Given the description of an element on the screen output the (x, y) to click on. 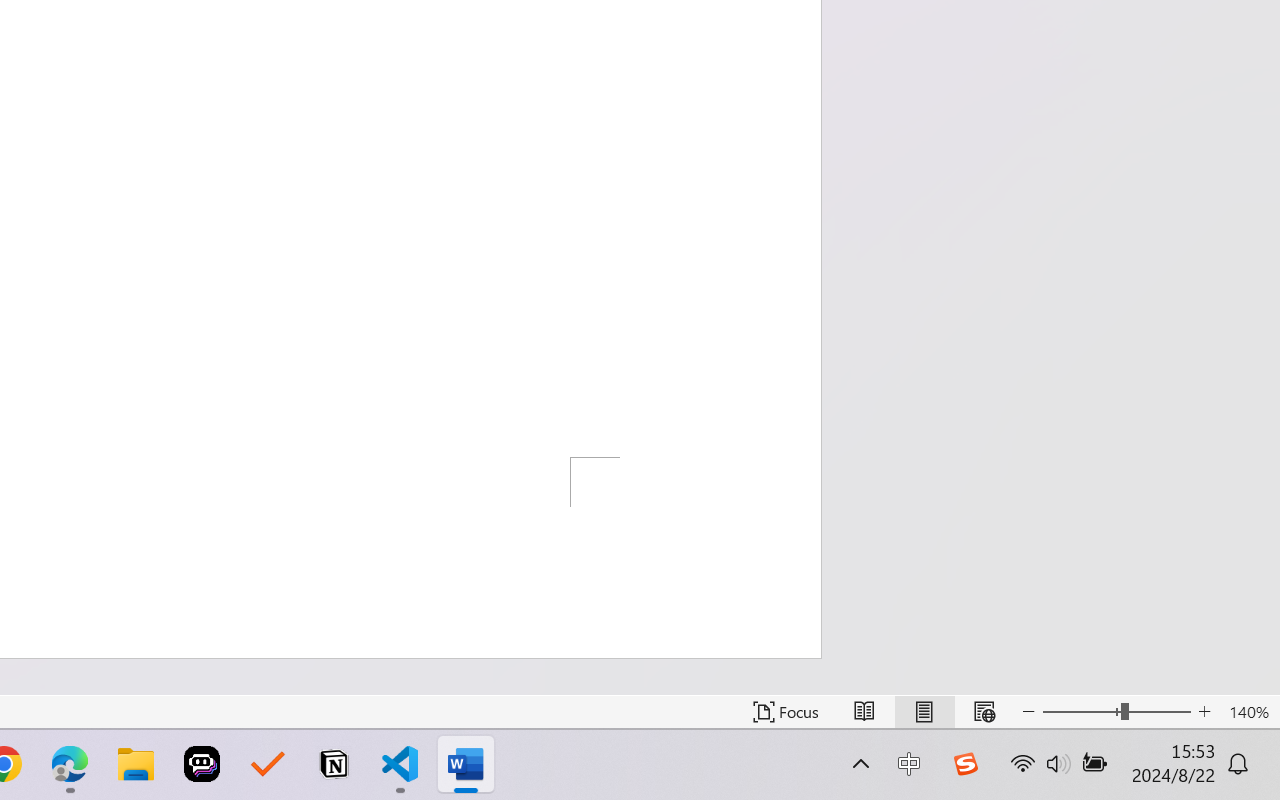
Zoom (1116, 712)
Poe (201, 764)
Notion (333, 764)
Zoom 140% (1249, 712)
Web Layout (984, 712)
